Given the description of an element on the screen output the (x, y) to click on. 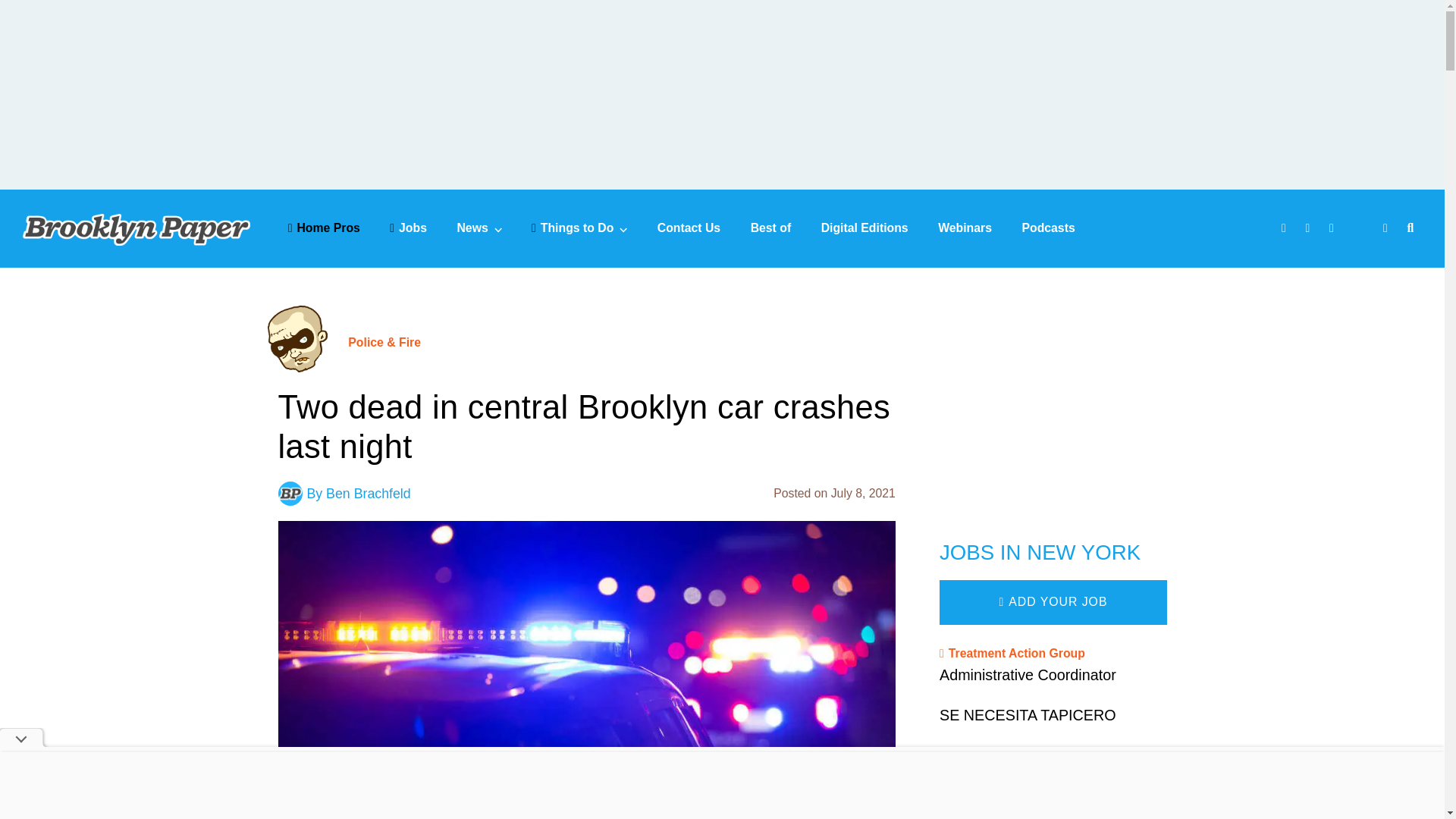
Things to Do (579, 227)
Jobs (408, 227)
Contact Us (689, 227)
News (478, 227)
Home Pros (323, 227)
Posts by Ben Brachfeld (368, 493)
Best of (771, 227)
Webinars (964, 227)
Digital Editions (864, 227)
Podcasts (1048, 227)
